Given the description of an element on the screen output the (x, y) to click on. 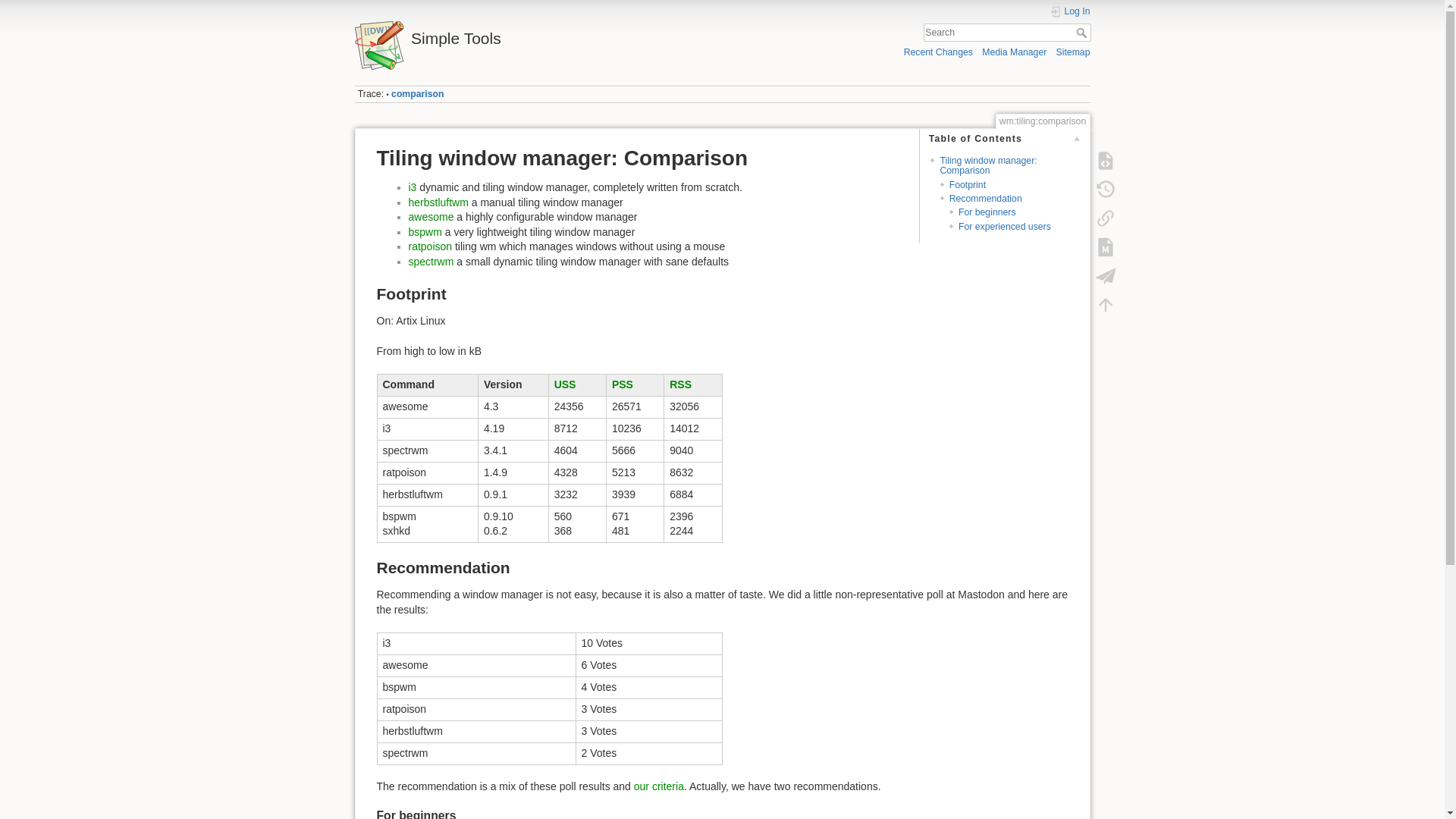
Log In (1069, 11)
spectrwm (429, 261)
our criteria (658, 786)
Footprint (967, 184)
PSS (622, 384)
Tiling window manager: Comparison (987, 165)
herbstluftwm (437, 202)
Search (1082, 32)
ratpoison (429, 246)
Log In (1069, 11)
Search (1082, 32)
Simple Tools (534, 34)
Sitemap (1073, 51)
RSS (680, 384)
awesome (429, 216)
